Given the description of an element on the screen output the (x, y) to click on. 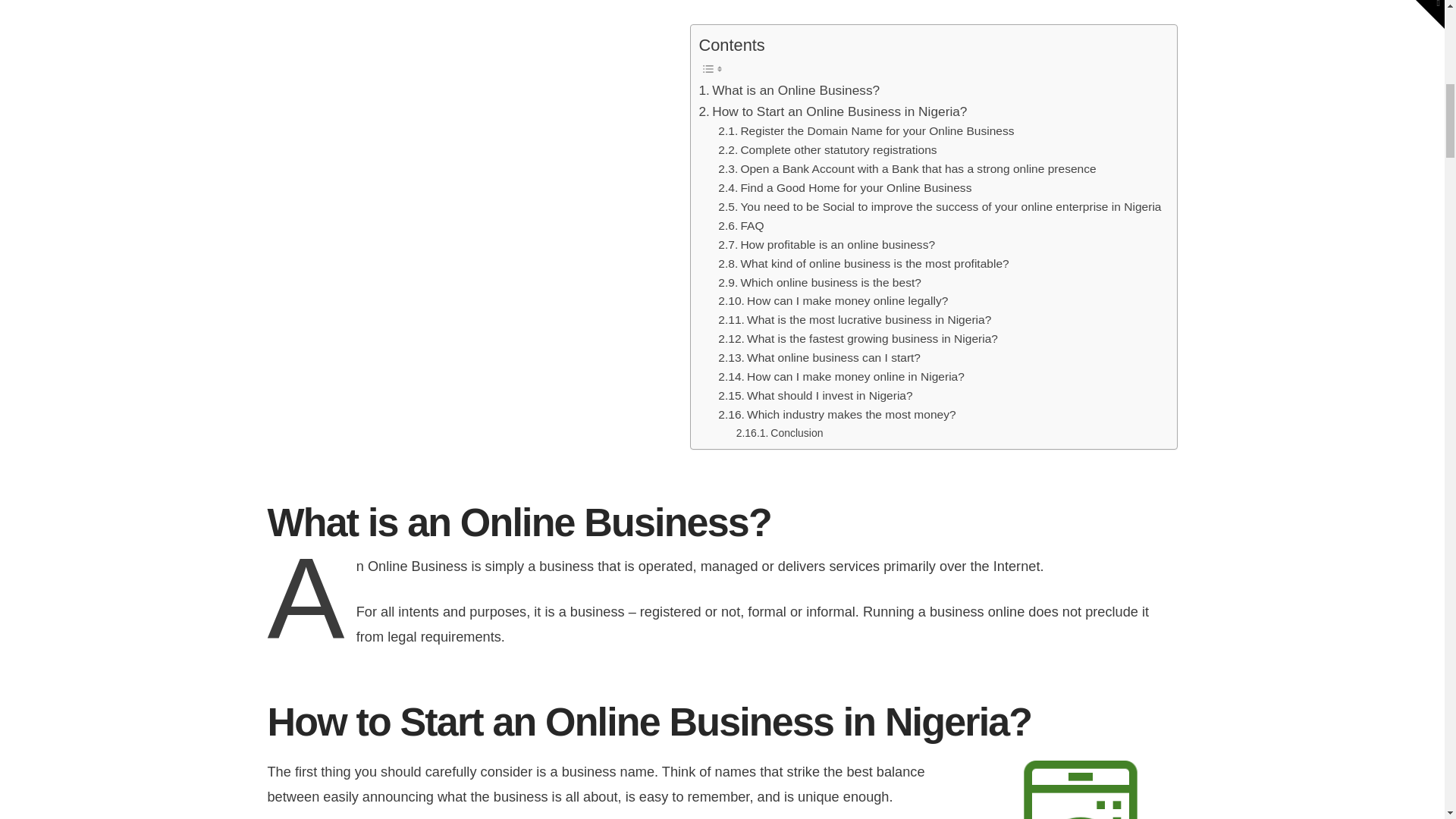
Which online business is the best? (819, 282)
What is the fastest growing business in Nigeria? (857, 339)
How profitable is an online business? (825, 244)
Which online business is the best? (819, 282)
What is the fastest growing business in Nigeria? (857, 339)
How can I make money online in Nigeria? (840, 376)
Find a Good Home for your Online Business (844, 188)
Register the Domain Name for your Online Business (865, 131)
What is the most lucrative business in Nigeria? (854, 320)
Find a Good Home for your Online Business (844, 188)
What kind of online business is the most profitable? (863, 263)
Which industry makes the most money? (836, 415)
What is an Online Business? (788, 90)
FAQ (739, 226)
